Given the description of an element on the screen output the (x, y) to click on. 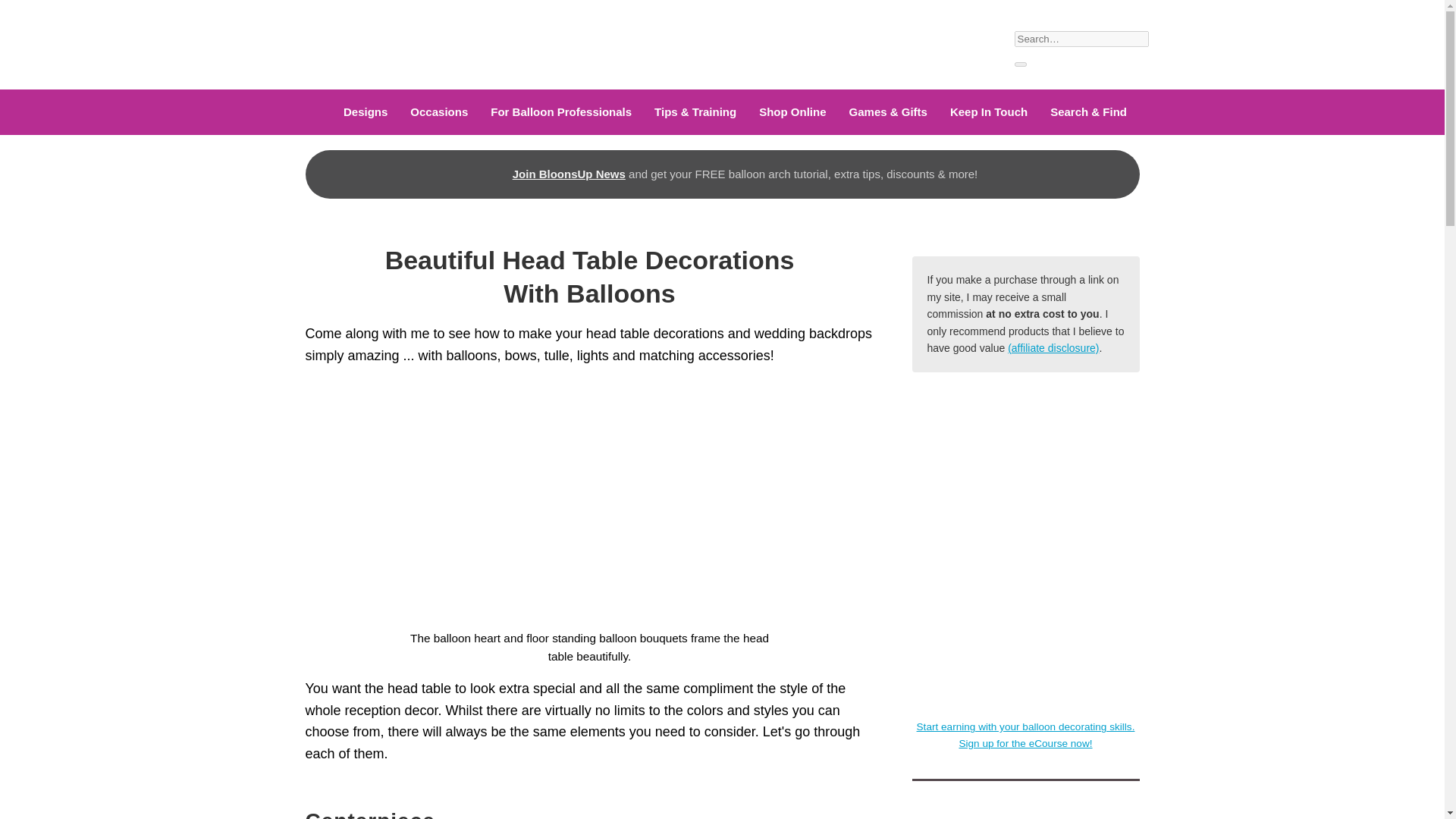
Head Table Decoration with Balloons (589, 501)
BloonsUp.com (353, 42)
